Given the description of an element on the screen output the (x, y) to click on. 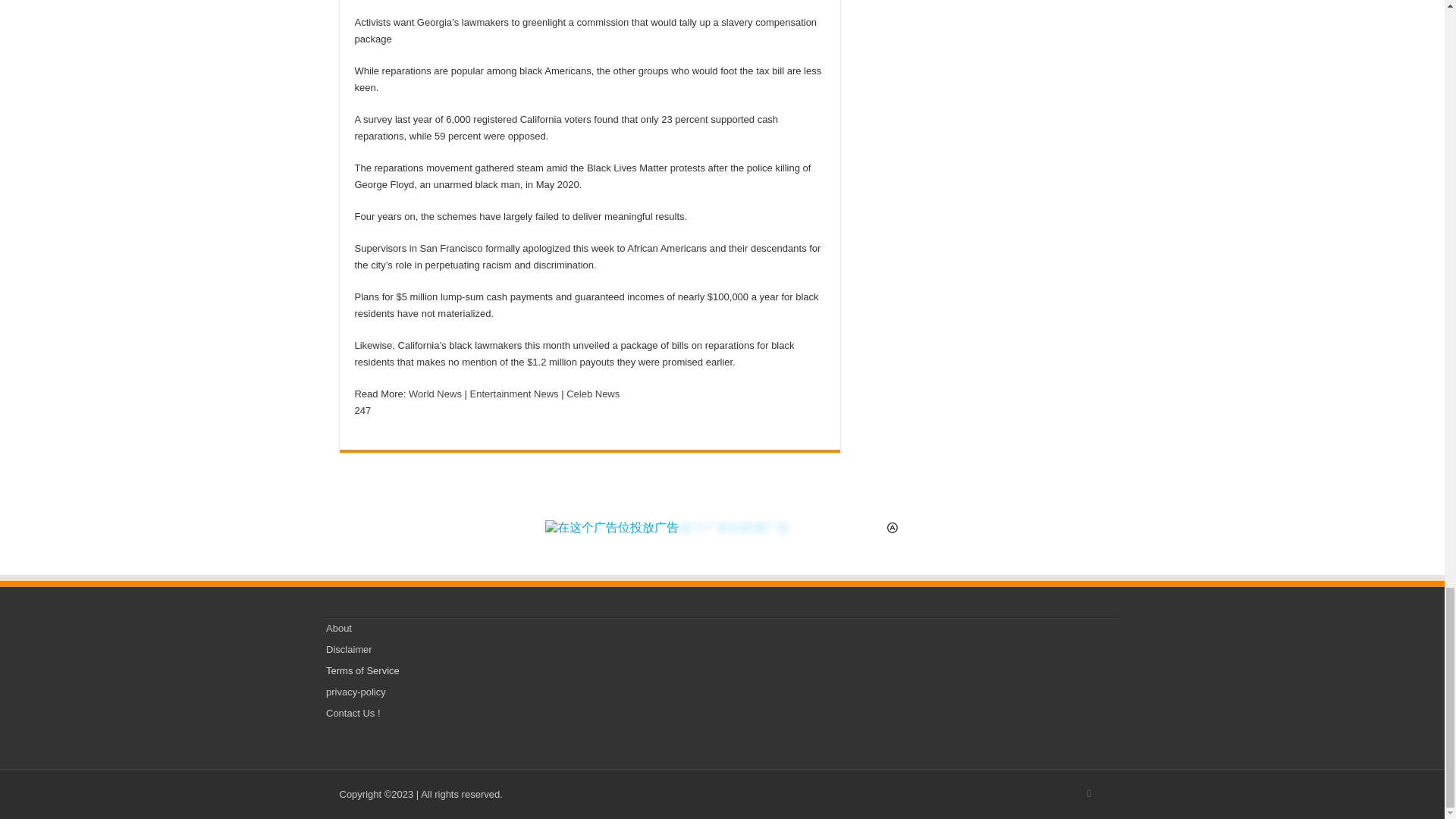
World News (435, 393)
Entertainment News (514, 393)
Celeb News (593, 393)
